Given the description of an element on the screen output the (x, y) to click on. 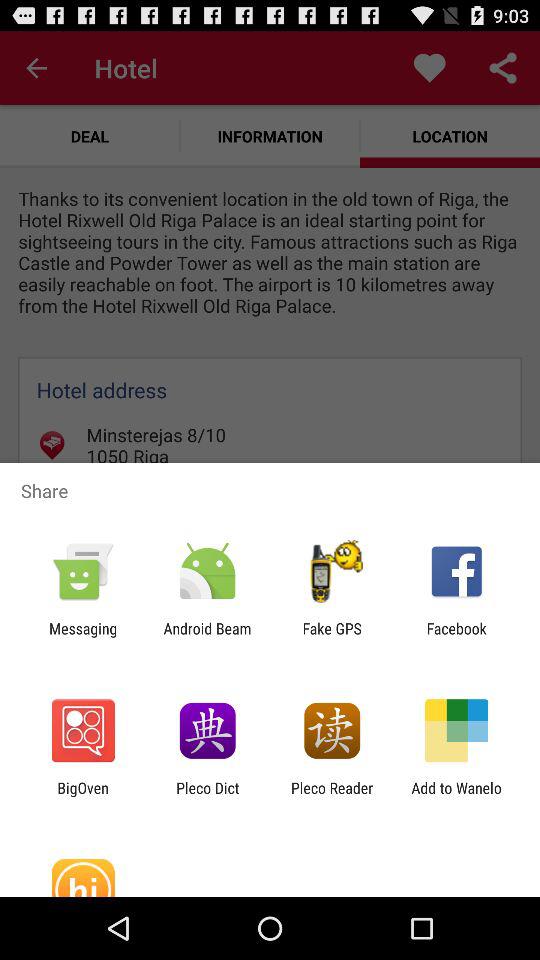
turn on the app to the left of the pleco dict icon (82, 796)
